Given the description of an element on the screen output the (x, y) to click on. 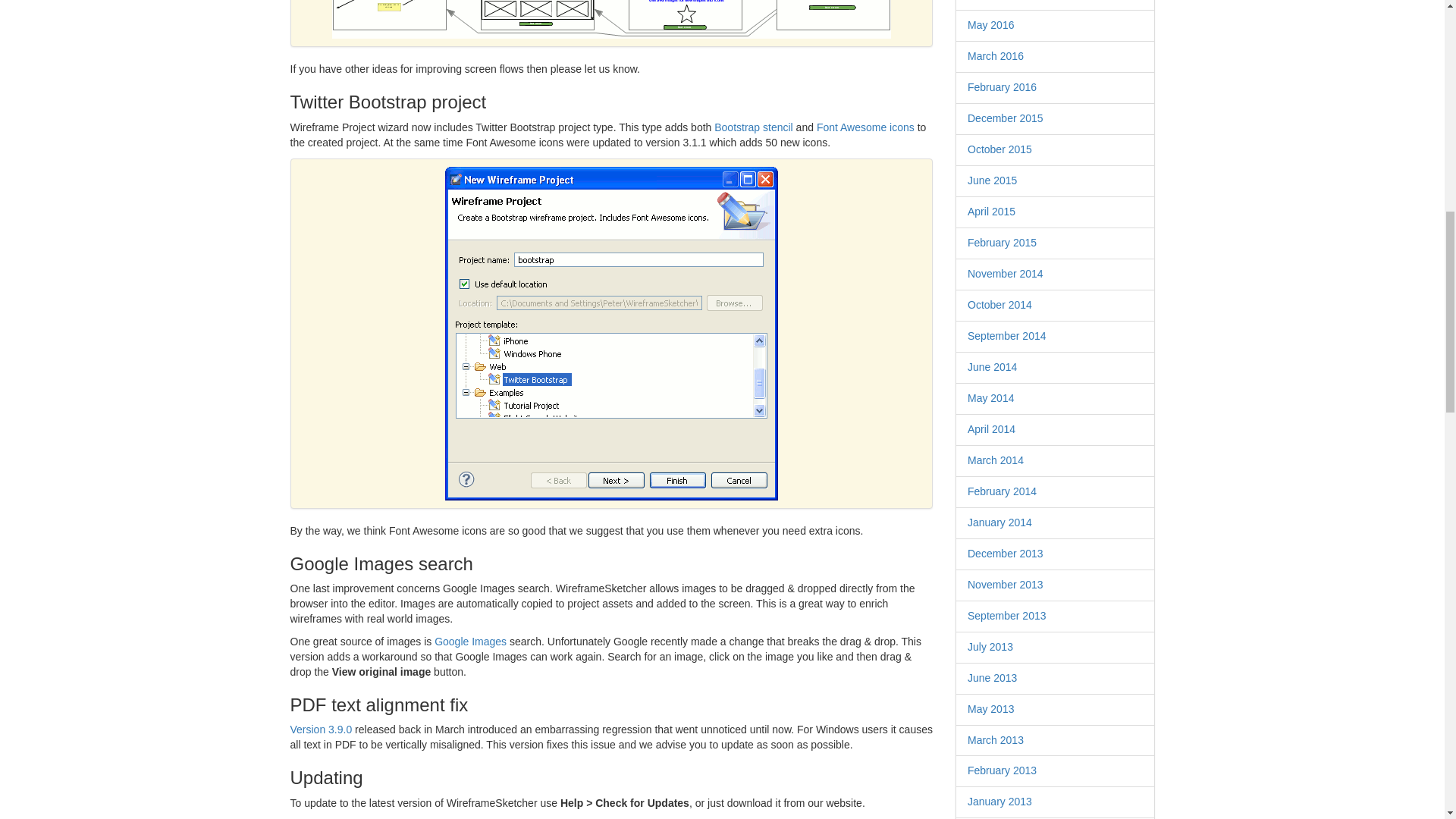
Google Images (469, 641)
Version 3.9.0 (320, 729)
Font Awesome icons (865, 127)
Cleaner Screen Flow (611, 19)
Twitter Bootstrap project (611, 333)
Bootstrap stencil (753, 127)
